Given the description of an element on the screen output the (x, y) to click on. 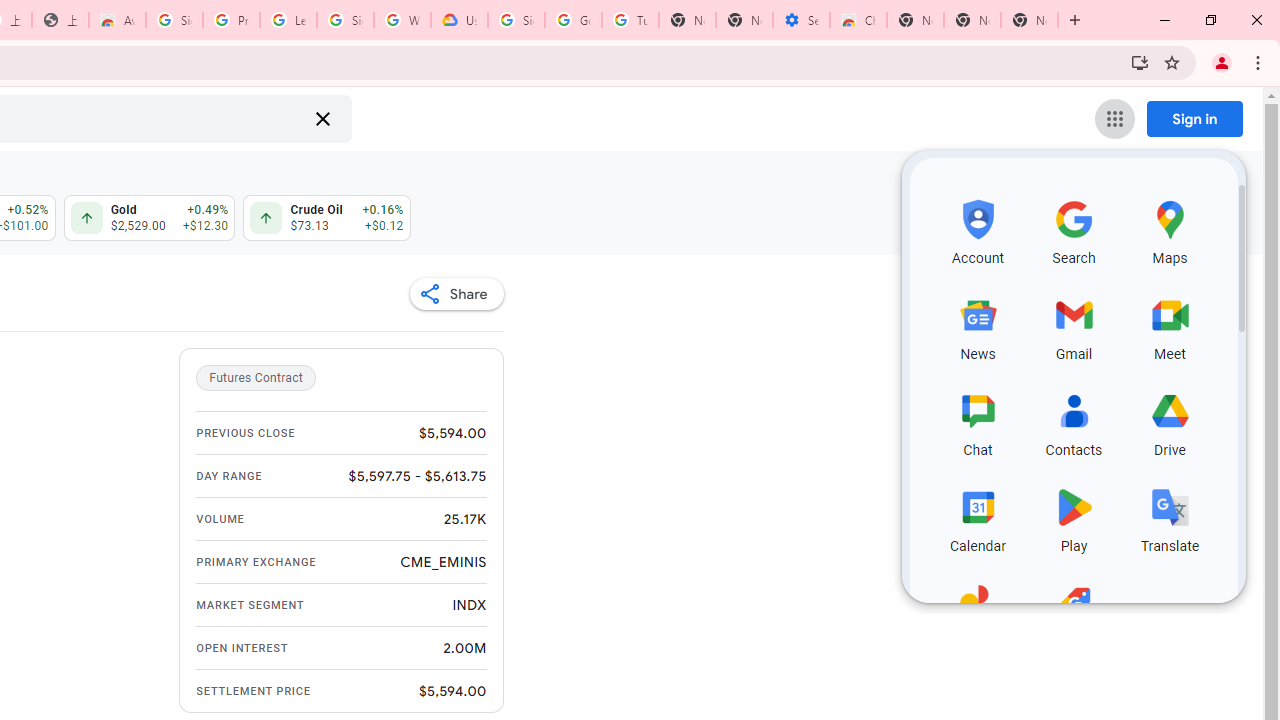
New Tab (915, 20)
Clear search (322, 118)
Turn cookies on or off - Computer - Google Account Help (630, 20)
Install Google Finance (1139, 62)
